Given the description of an element on the screen output the (x, y) to click on. 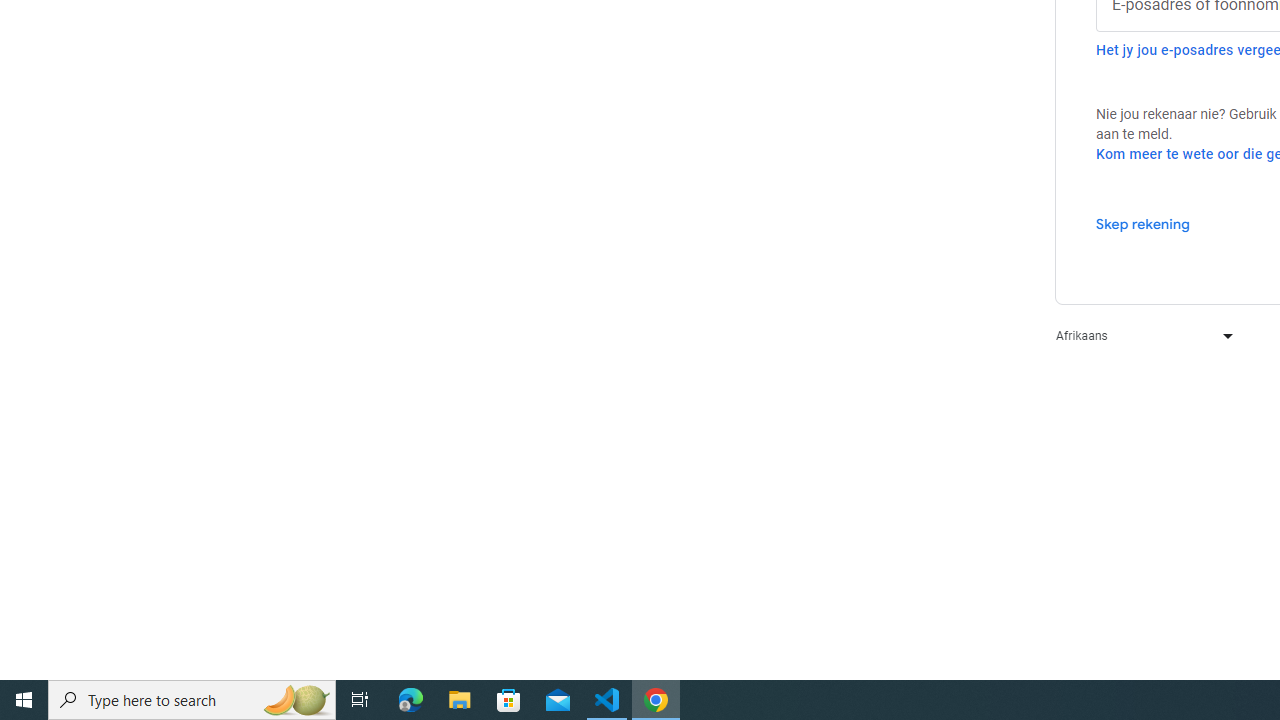
Skep rekening (1142, 223)
Afrikaans (1139, 335)
